Given the description of an element on the screen output the (x, y) to click on. 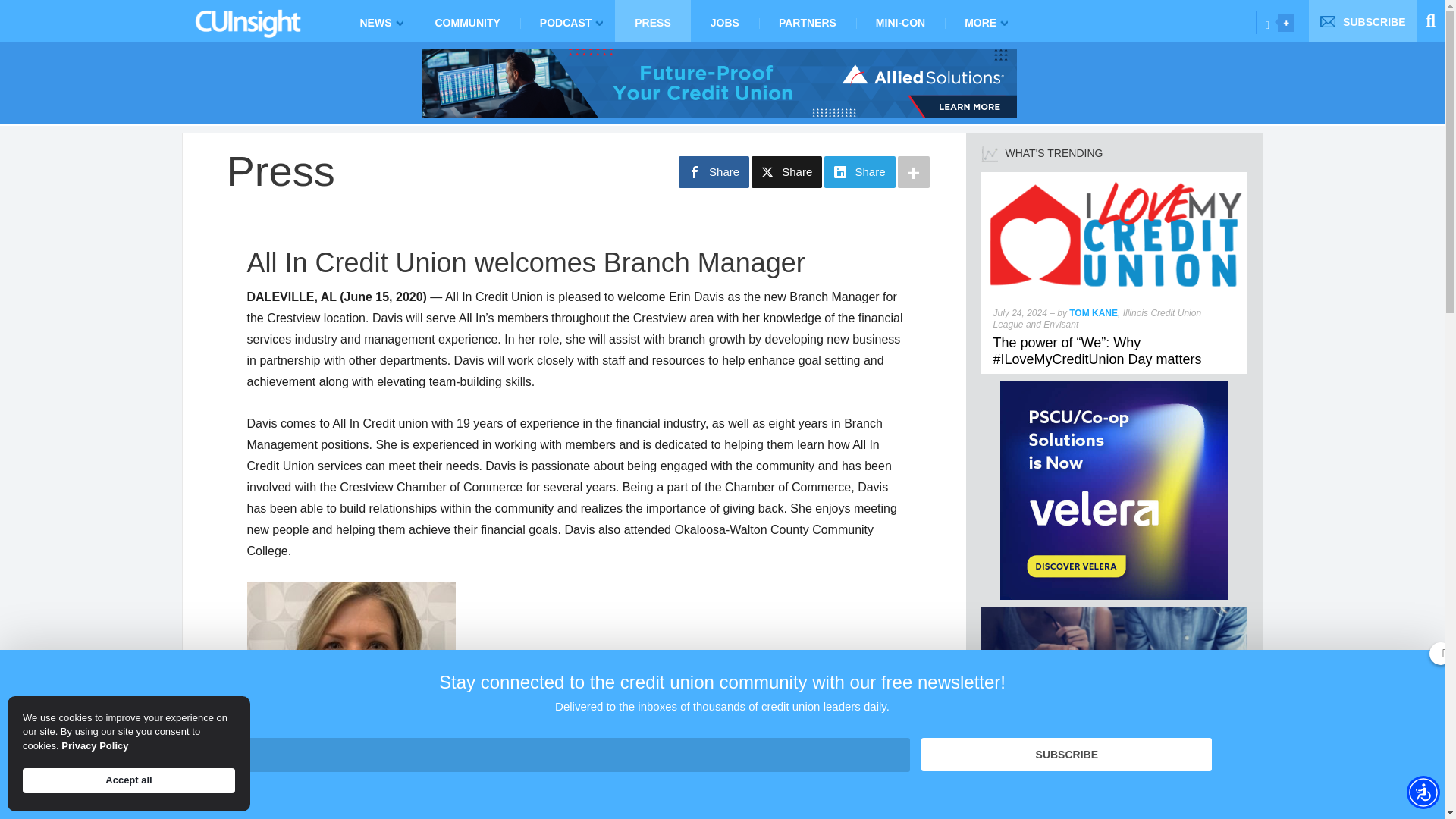
Share (859, 172)
Press (279, 170)
The 5 features to an exceptional digital banking platform (1109, 775)
NEWS (376, 21)
SUBSCRIBE (1362, 21)
MORE (982, 21)
PODCAST (566, 21)
MINI-CON (900, 21)
PRESS (652, 21)
Share (713, 172)
Subscribe (1066, 754)
Share (786, 172)
The 5 features to an exceptional digital banking platform (1114, 613)
COMMUNITY (466, 21)
JOBS (724, 21)
